Given the description of an element on the screen output the (x, y) to click on. 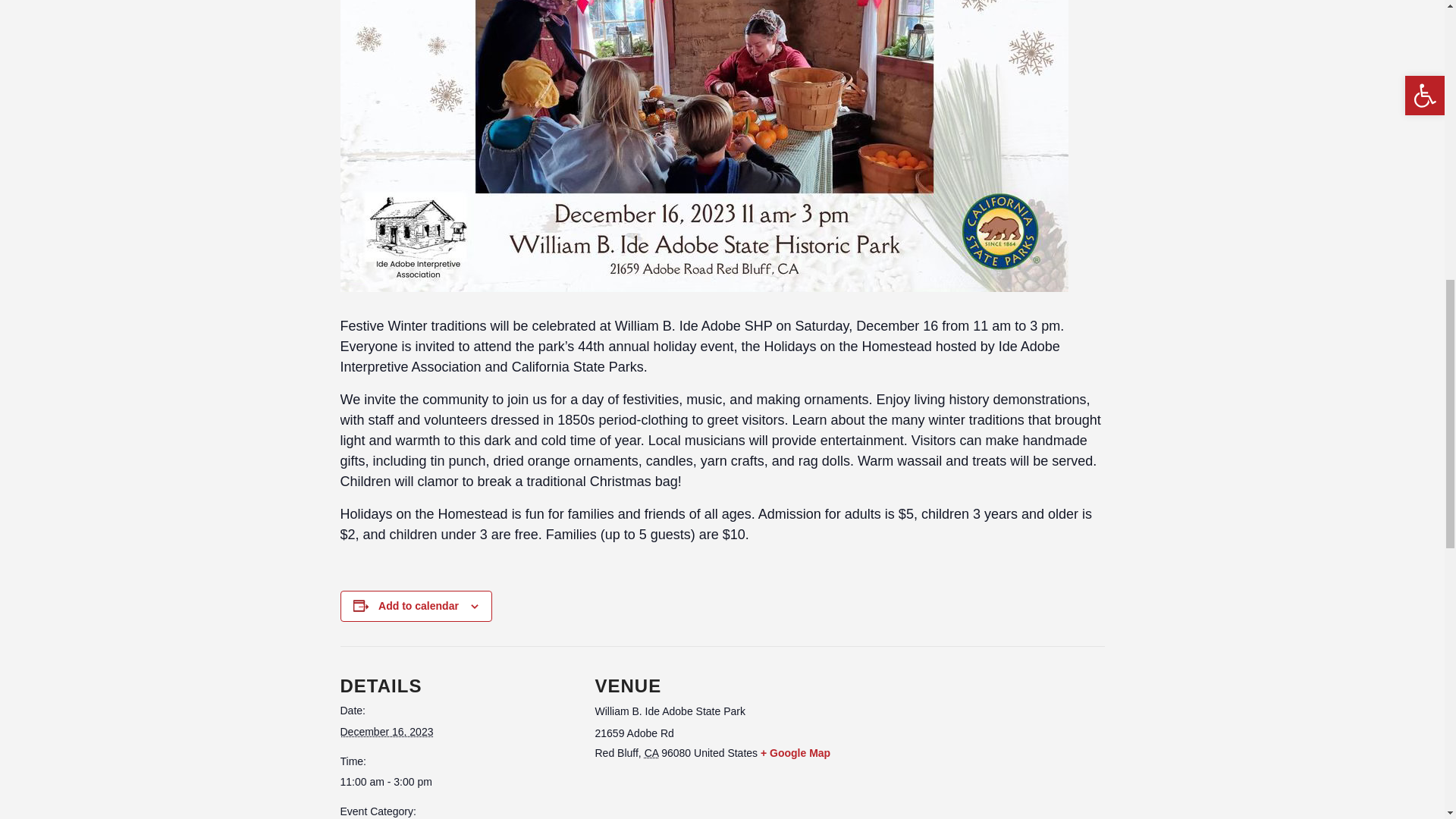
2023-12-16 (457, 782)
2023-12-16 (385, 731)
Add to calendar (418, 605)
California (652, 752)
Click to view a Google Map (794, 752)
